Given the description of an element on the screen output the (x, y) to click on. 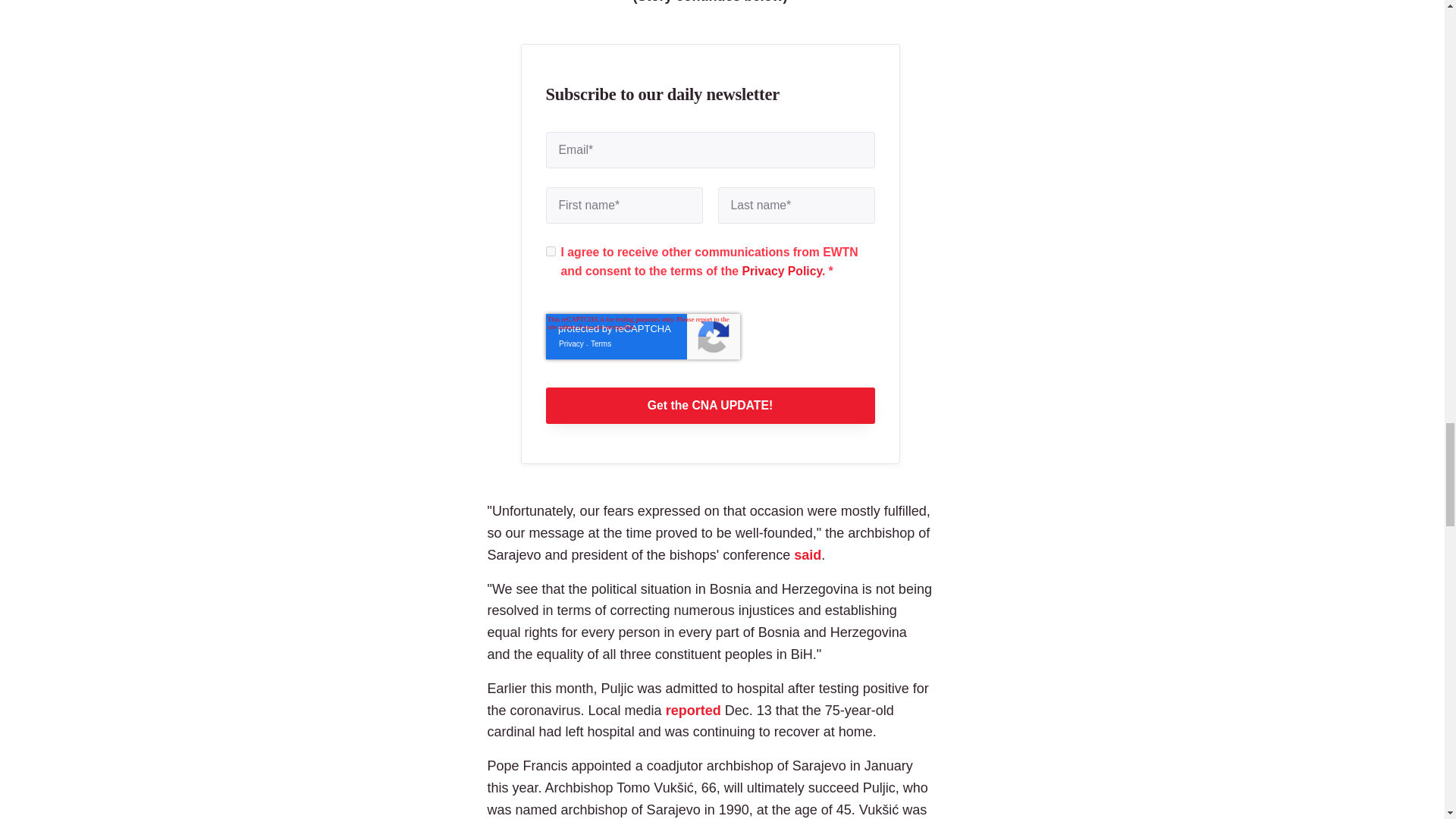
true (551, 251)
Get the CNA UPDATE! (710, 405)
reCAPTCHA (642, 336)
